Given the description of an element on the screen output the (x, y) to click on. 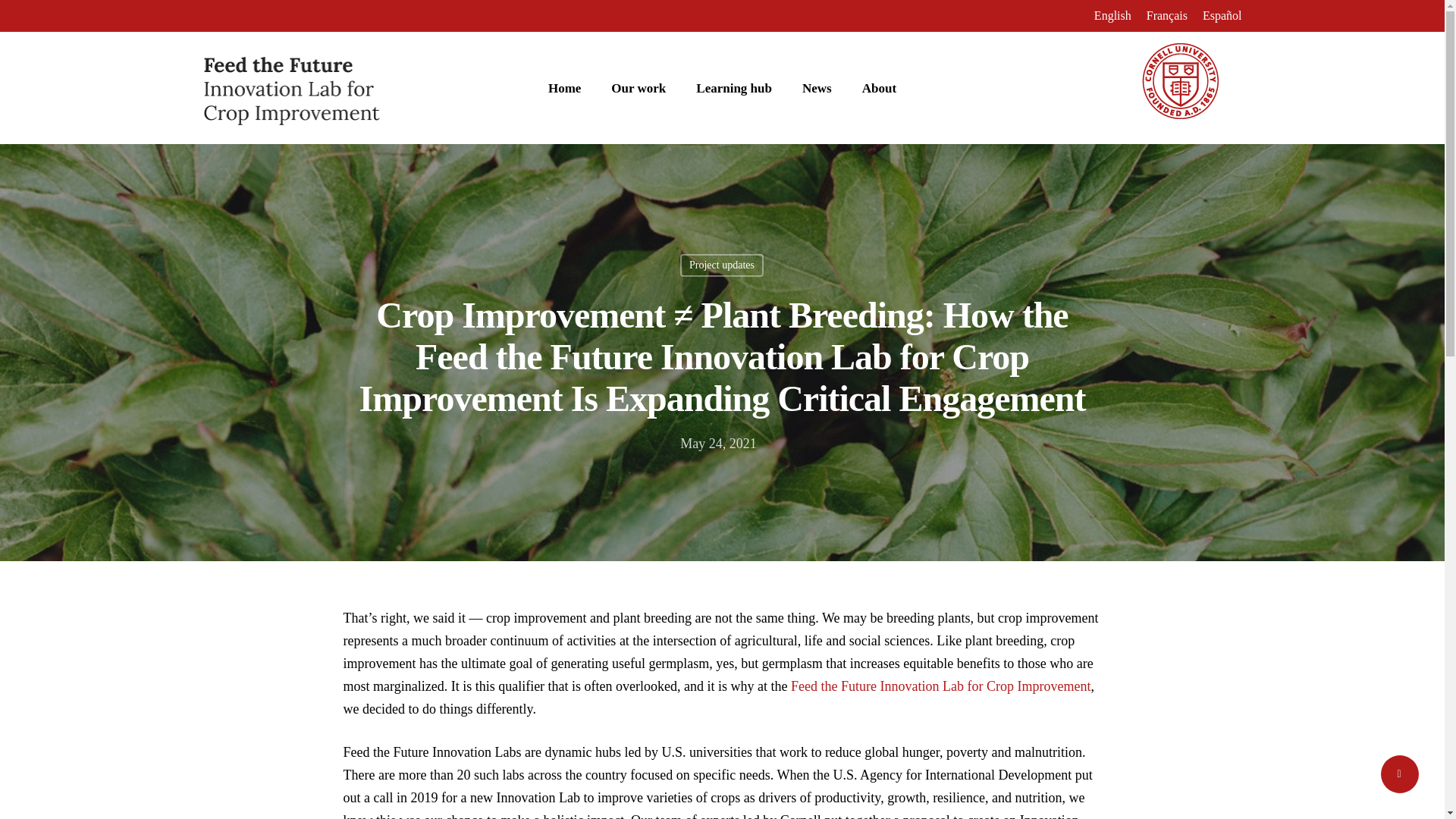
Our work (638, 88)
Project updates (720, 264)
Learning hub (733, 88)
English (1112, 15)
Feed the Future Innovation Lab for Crop Improvement (940, 685)
English (1112, 15)
News (816, 88)
Home (564, 88)
About (878, 88)
